Given the description of an element on the screen output the (x, y) to click on. 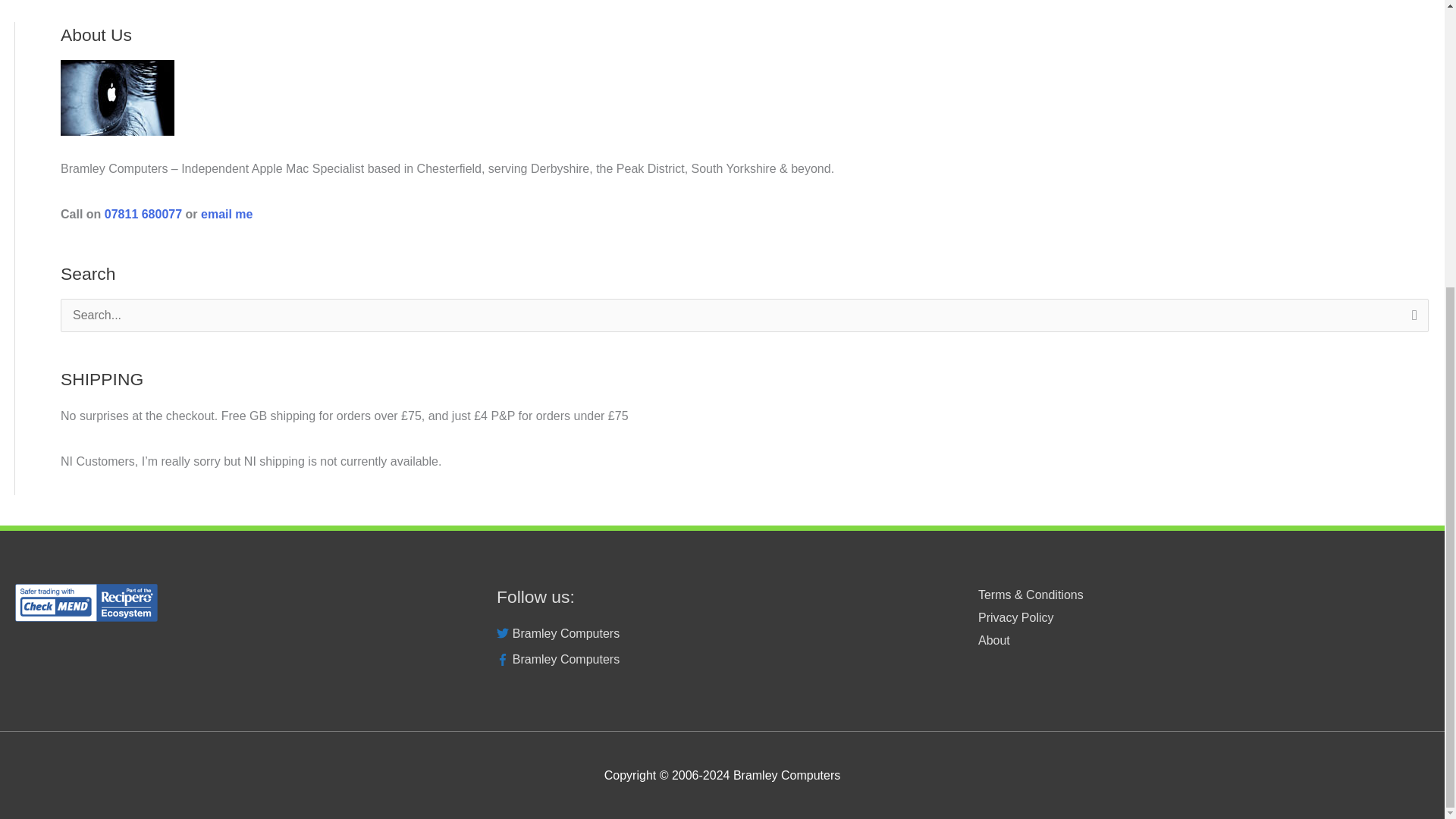
07811 680077 (143, 214)
Bramley Computers (721, 659)
Bramley Computers (721, 633)
Privacy Policy (1016, 617)
About (994, 640)
email me (225, 214)
